Given the description of an element on the screen output the (x, y) to click on. 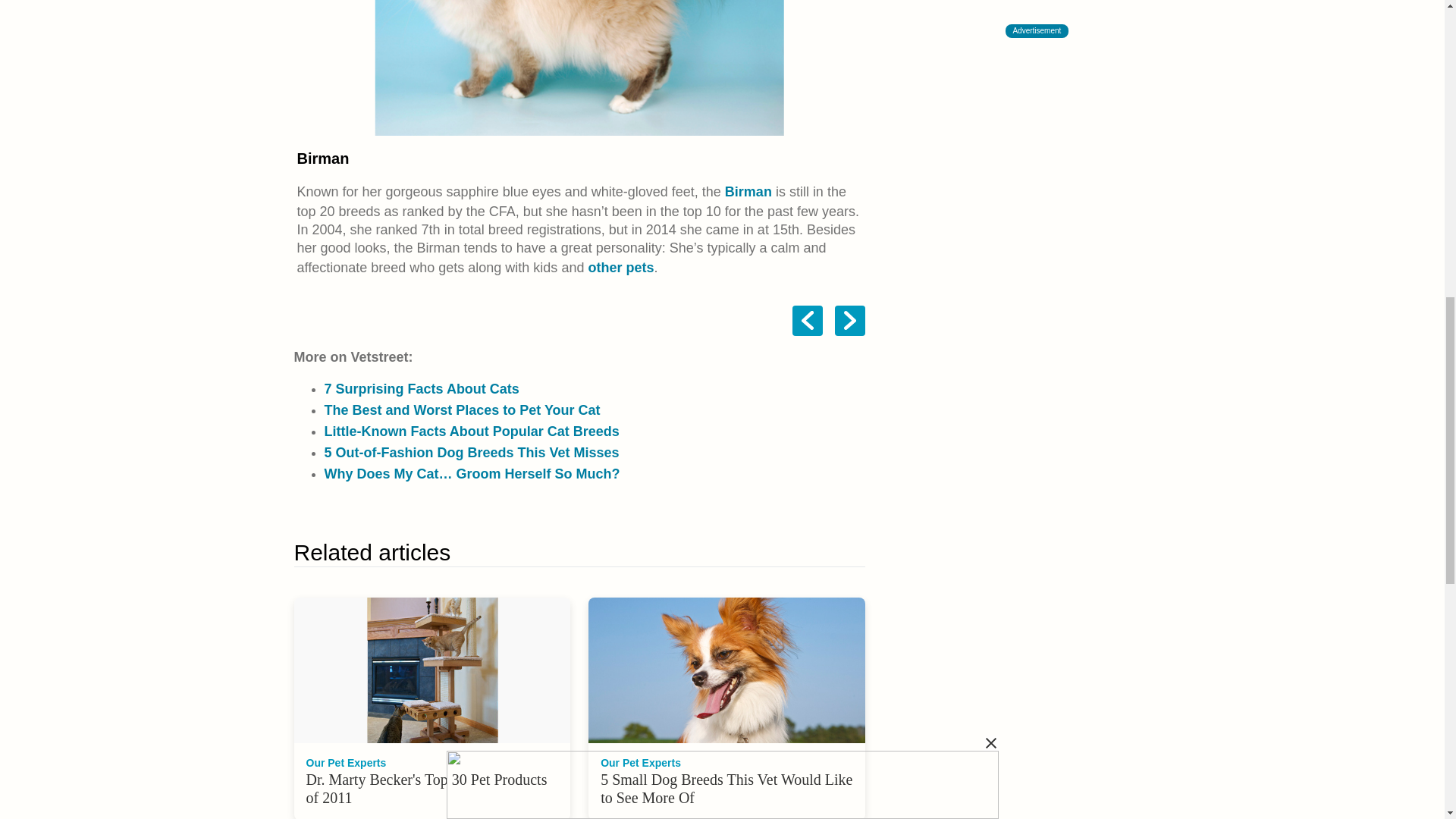
Link: null (620, 267)
